Given the description of an element on the screen output the (x, y) to click on. 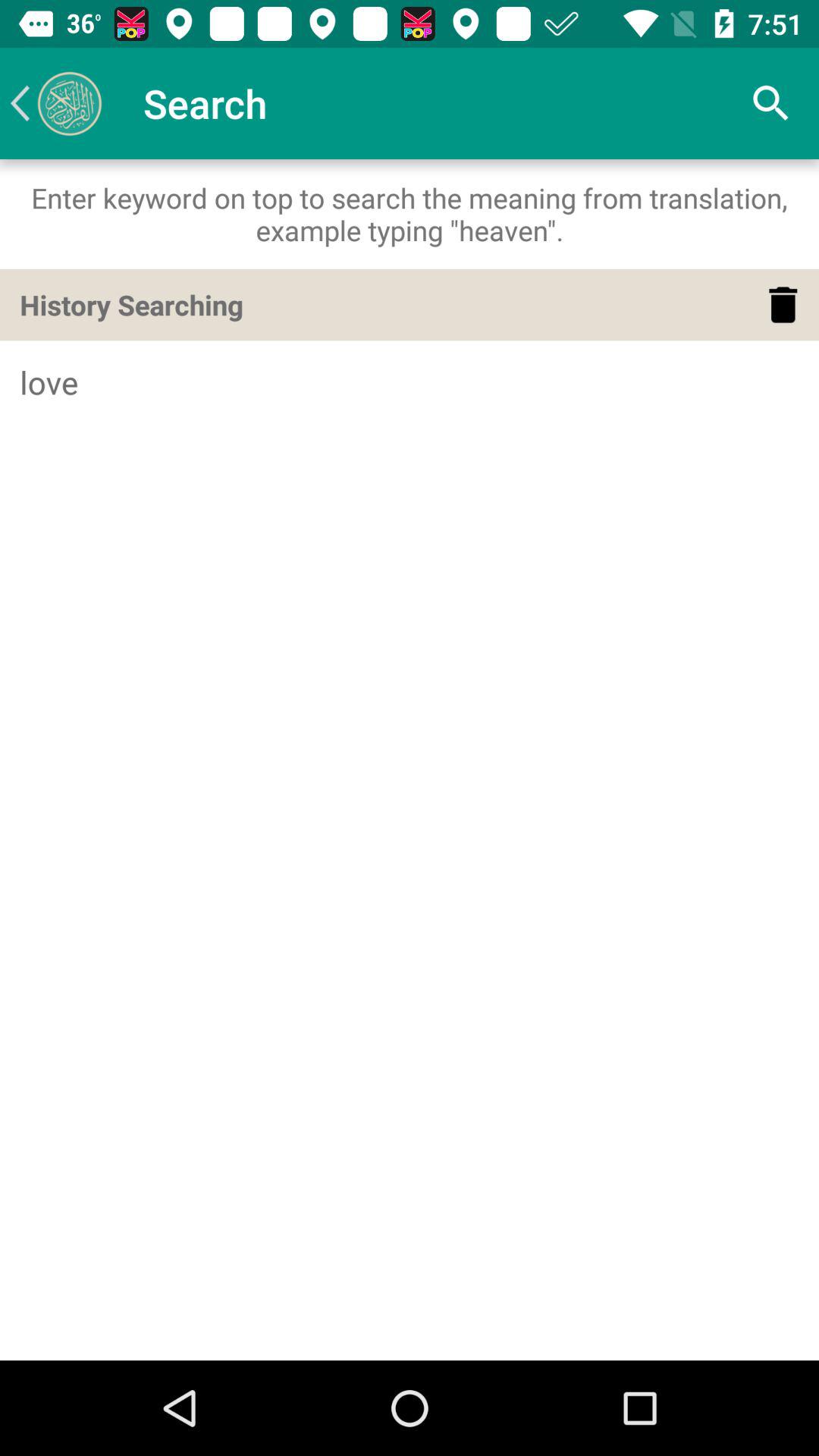
press the icon below the enter keyword on (783, 304)
